Given the description of an element on the screen output the (x, y) to click on. 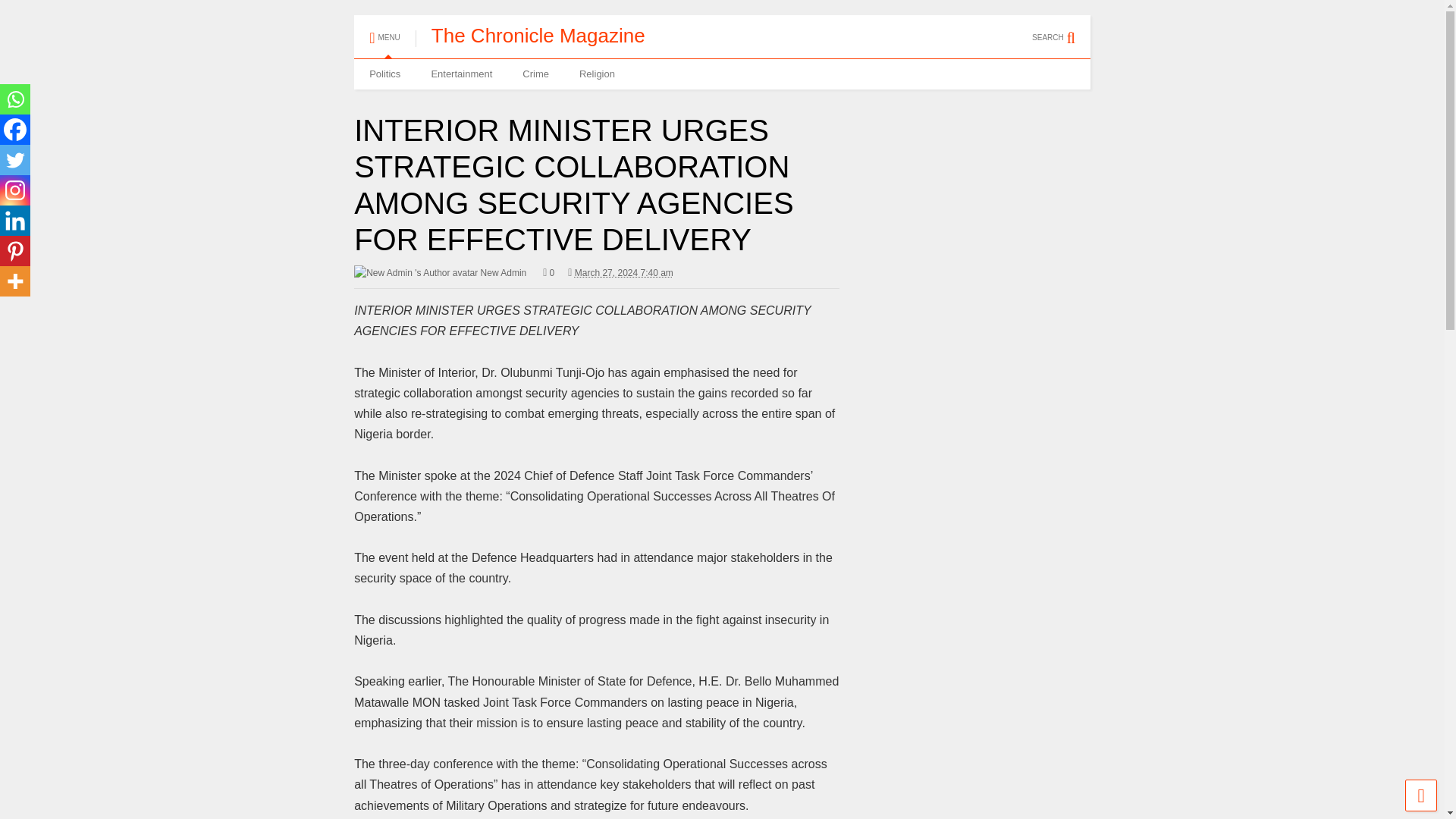
Linkedin (15, 220)
March 27, 2024 7:40 am (623, 272)
Entertainment (460, 73)
March 27, 2024 7:40 am (619, 272)
MENU (384, 30)
SEARCH (1061, 30)
Facebook (15, 129)
Religion (597, 73)
Instagram (15, 190)
balanced and timely news (537, 35)
New Admin (439, 272)
Crime (535, 73)
Politics (383, 73)
New Admin (439, 272)
Twitter (15, 159)
